Given the description of an element on the screen output the (x, y) to click on. 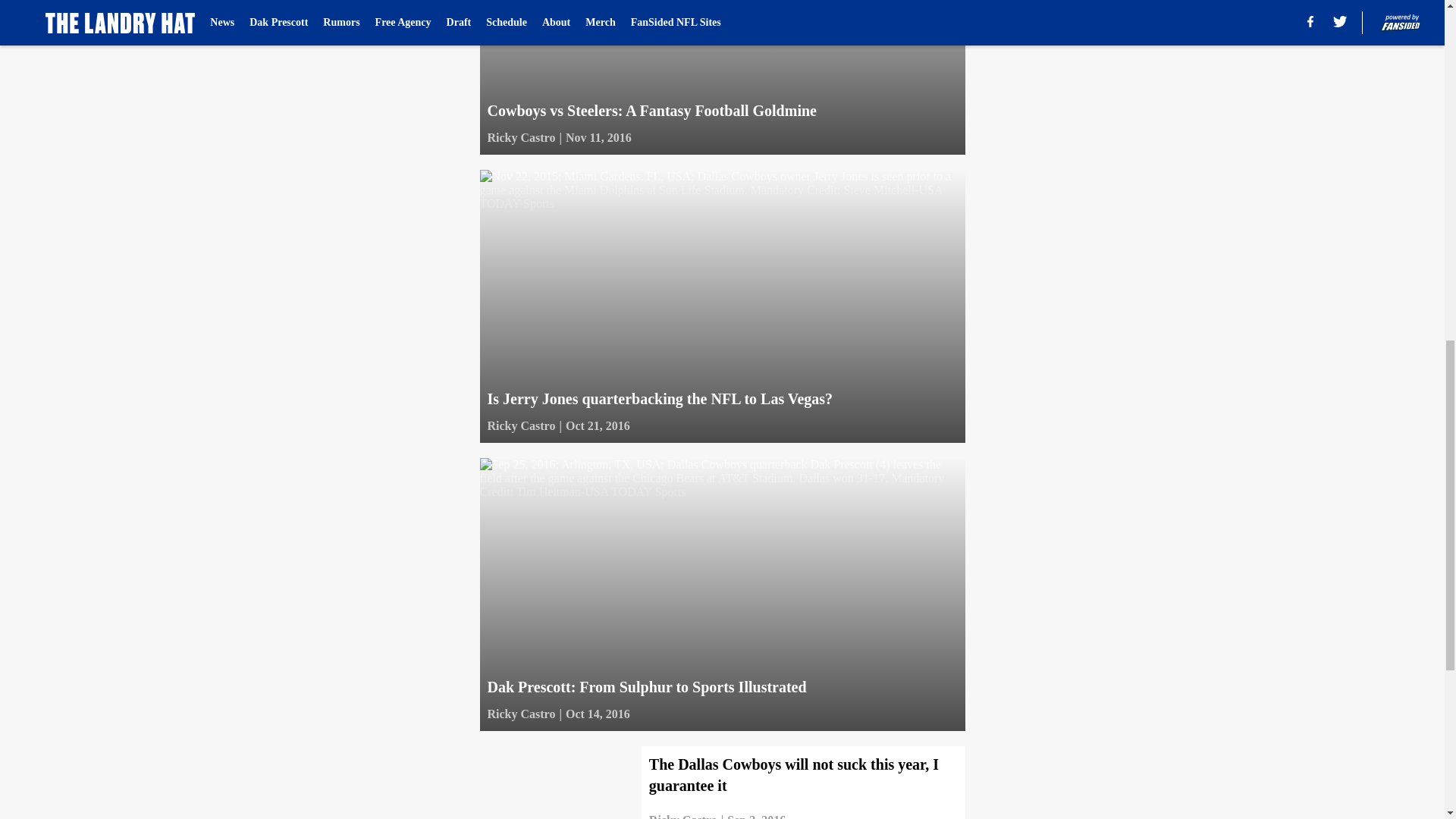
Is Jerry Jones quarterbacking the NFL to Las Vegas? (721, 306)
Dak Prescott: From Sulphur to Sports Illustrated (721, 594)
The Dallas Cowboys will not suck this year, I guarantee it (721, 782)
Ricky Castro (520, 714)
Ricky Castro (683, 815)
Cowboys vs Steelers: A Fantasy Football Goldmine (721, 77)
Ricky Castro (520, 425)
Ricky Castro (520, 137)
